Given the description of an element on the screen output the (x, y) to click on. 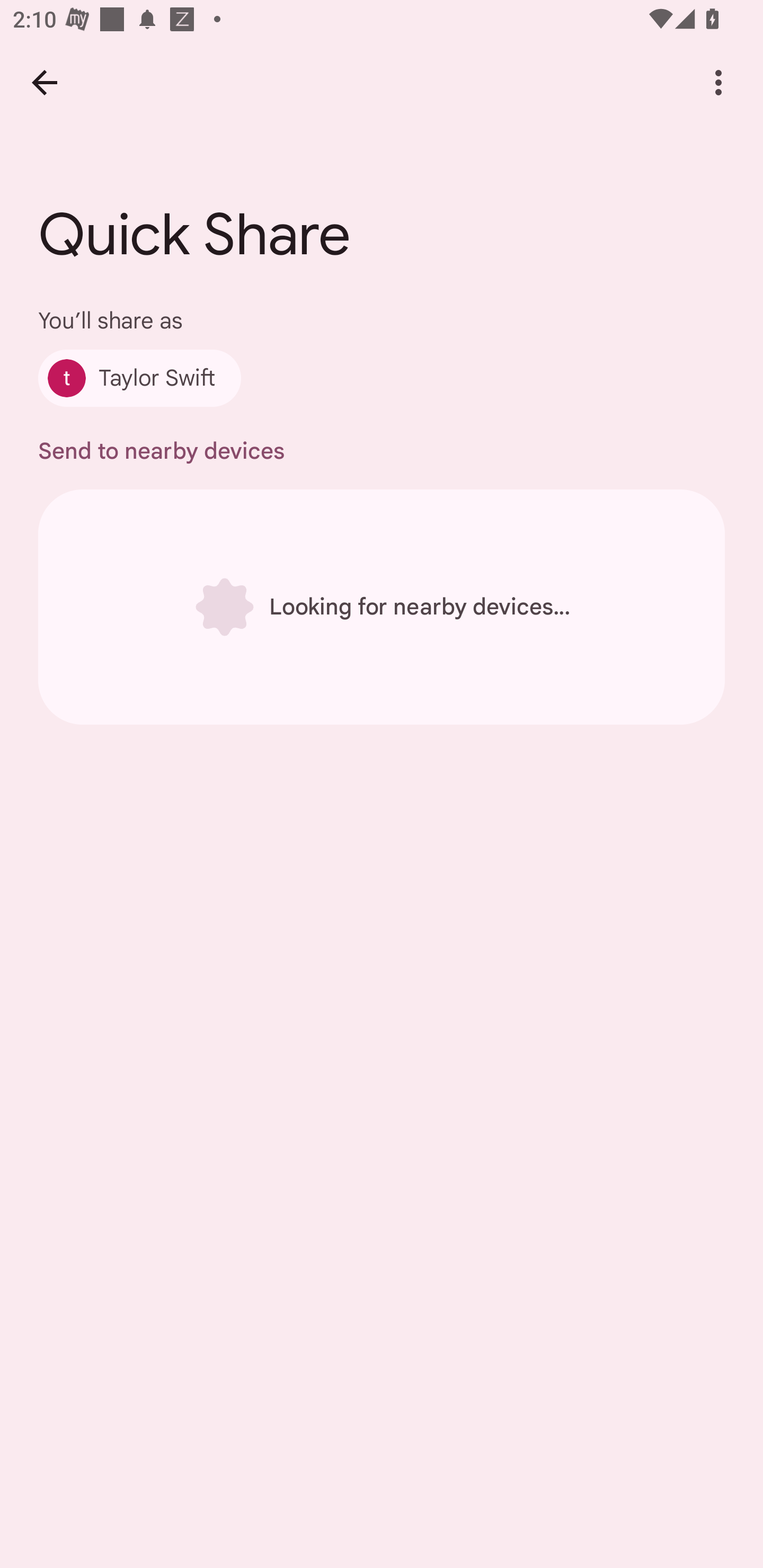
Back (44, 81)
More (718, 81)
Taylor Swift (139, 378)
